Given the description of an element on the screen output the (x, y) to click on. 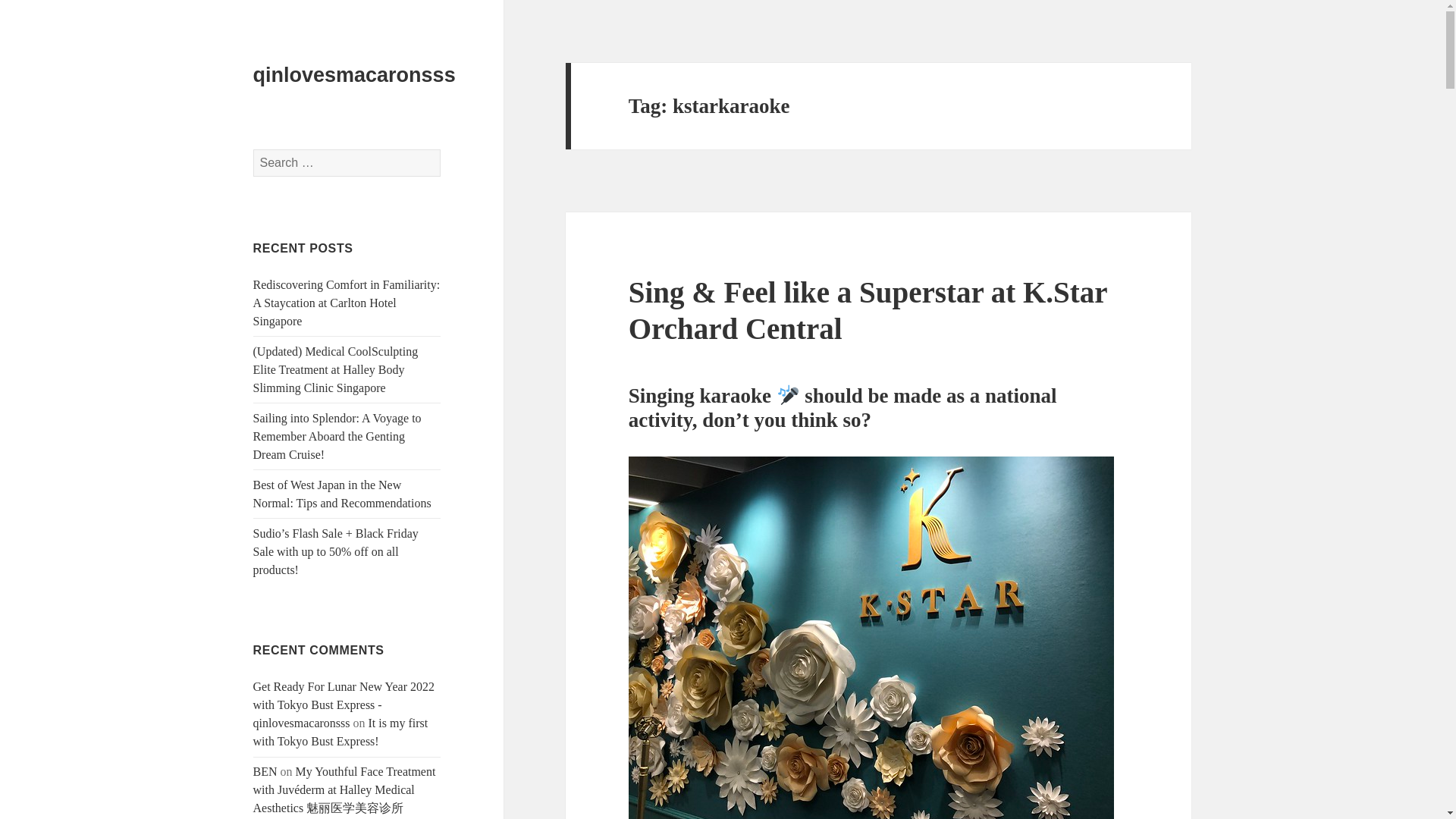
BEN (265, 771)
It is my first with Tokyo Bust Express! (340, 731)
qinlovesmacaronsss (354, 74)
